Given the description of an element on the screen output the (x, y) to click on. 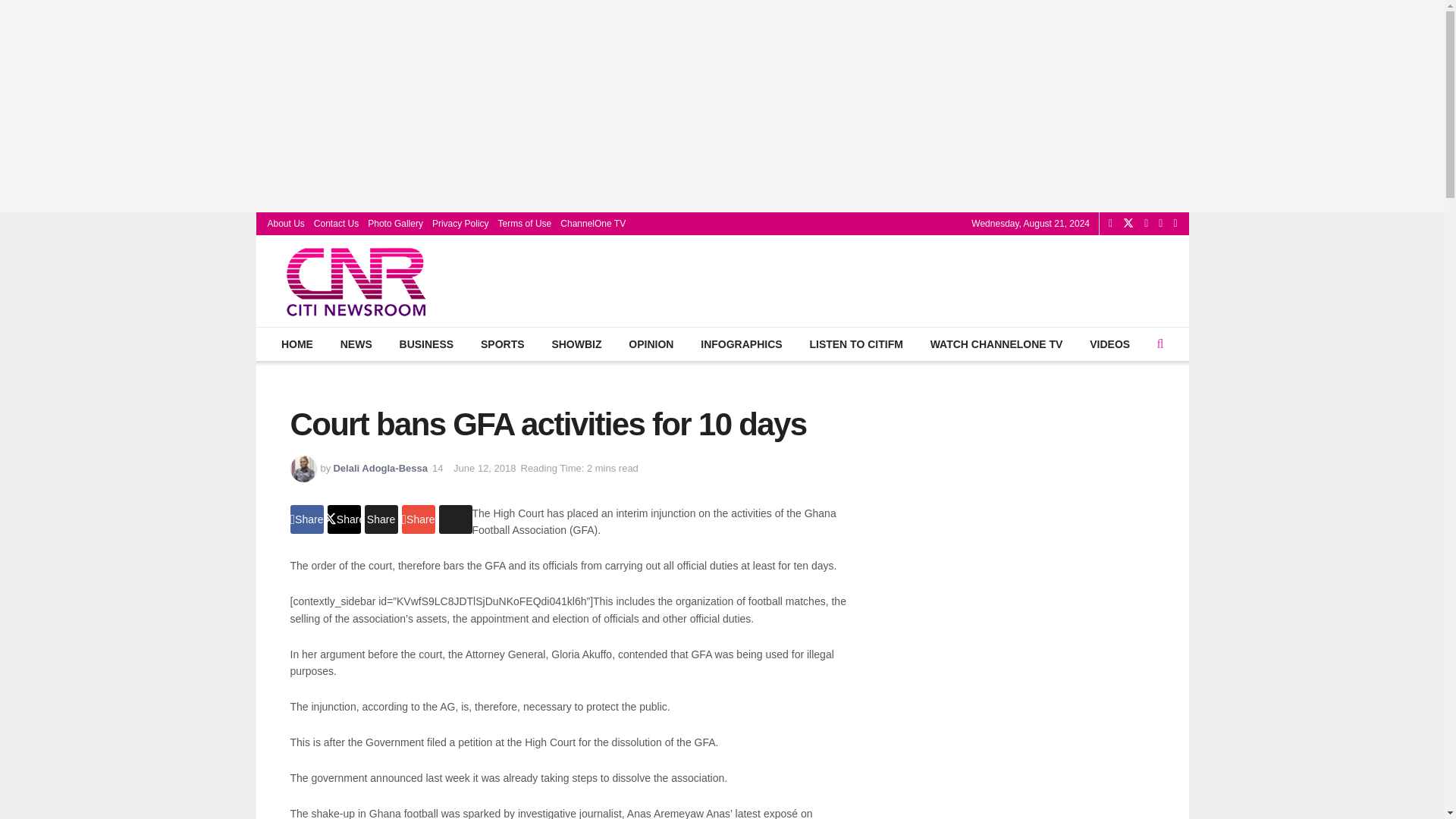
Terms of Use (524, 223)
About Us (285, 223)
SHOWBIZ (576, 344)
INFOGRAPHICS (740, 344)
LISTEN TO CITIFM (855, 344)
BUSINESS (425, 344)
Contact Us (336, 223)
NEWS (355, 344)
SPORTS (502, 344)
